Given the description of an element on the screen output the (x, y) to click on. 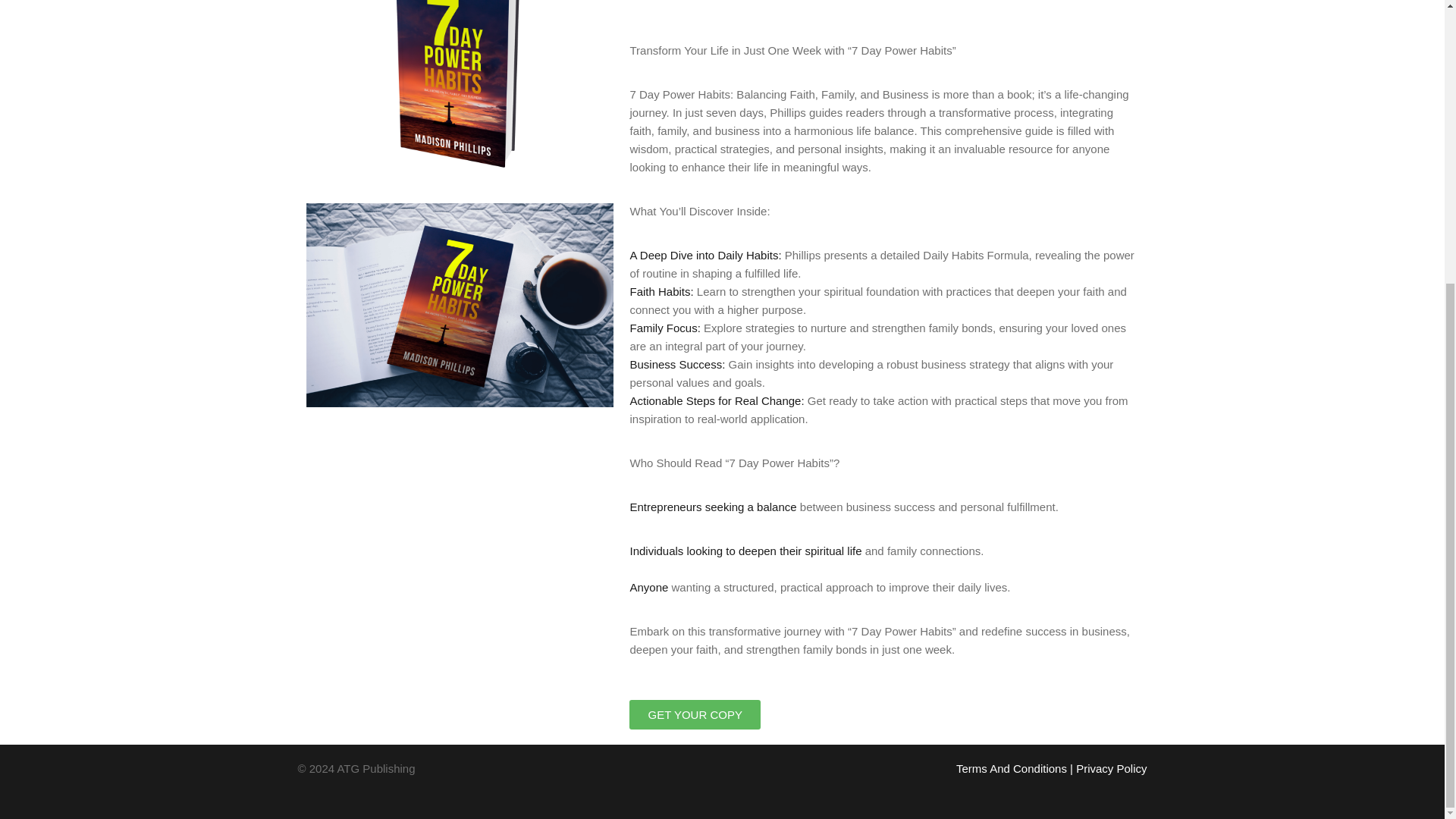
Privacy Policy (1111, 768)
Terms And Conditions (1011, 768)
GET YOUR COPY (694, 714)
